Given the description of an element on the screen output the (x, y) to click on. 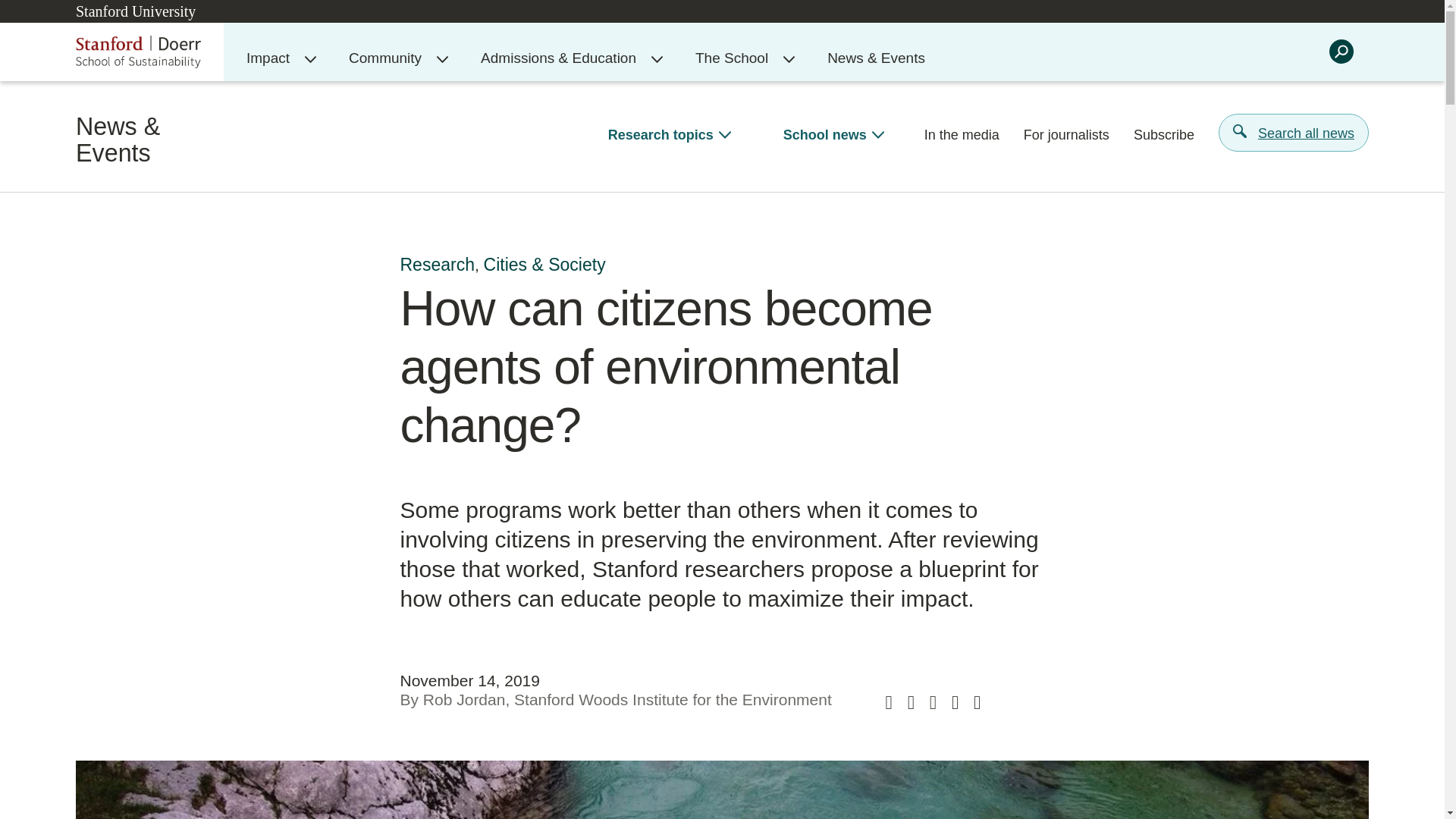
Impact (270, 58)
Community (387, 58)
